Given the description of an element on the screen output the (x, y) to click on. 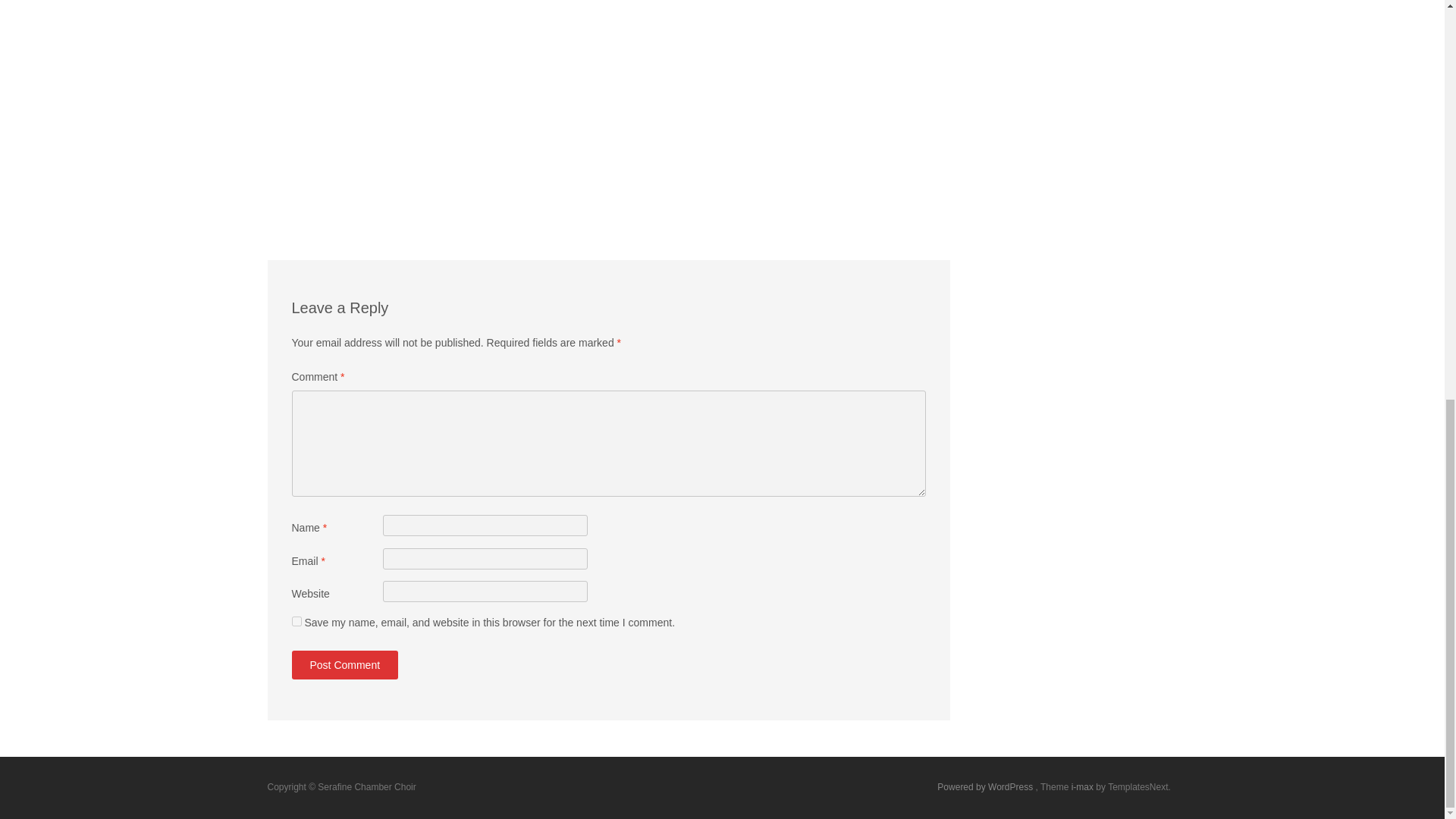
Multi-purpose WordPress WooCommerce Theme (1083, 787)
Post Comment (344, 664)
i-max (1083, 787)
yes (296, 621)
Semantic Personal Publishing Platform (986, 787)
Powered by WordPress (986, 787)
Post Comment (344, 664)
